Given the description of an element on the screen output the (x, y) to click on. 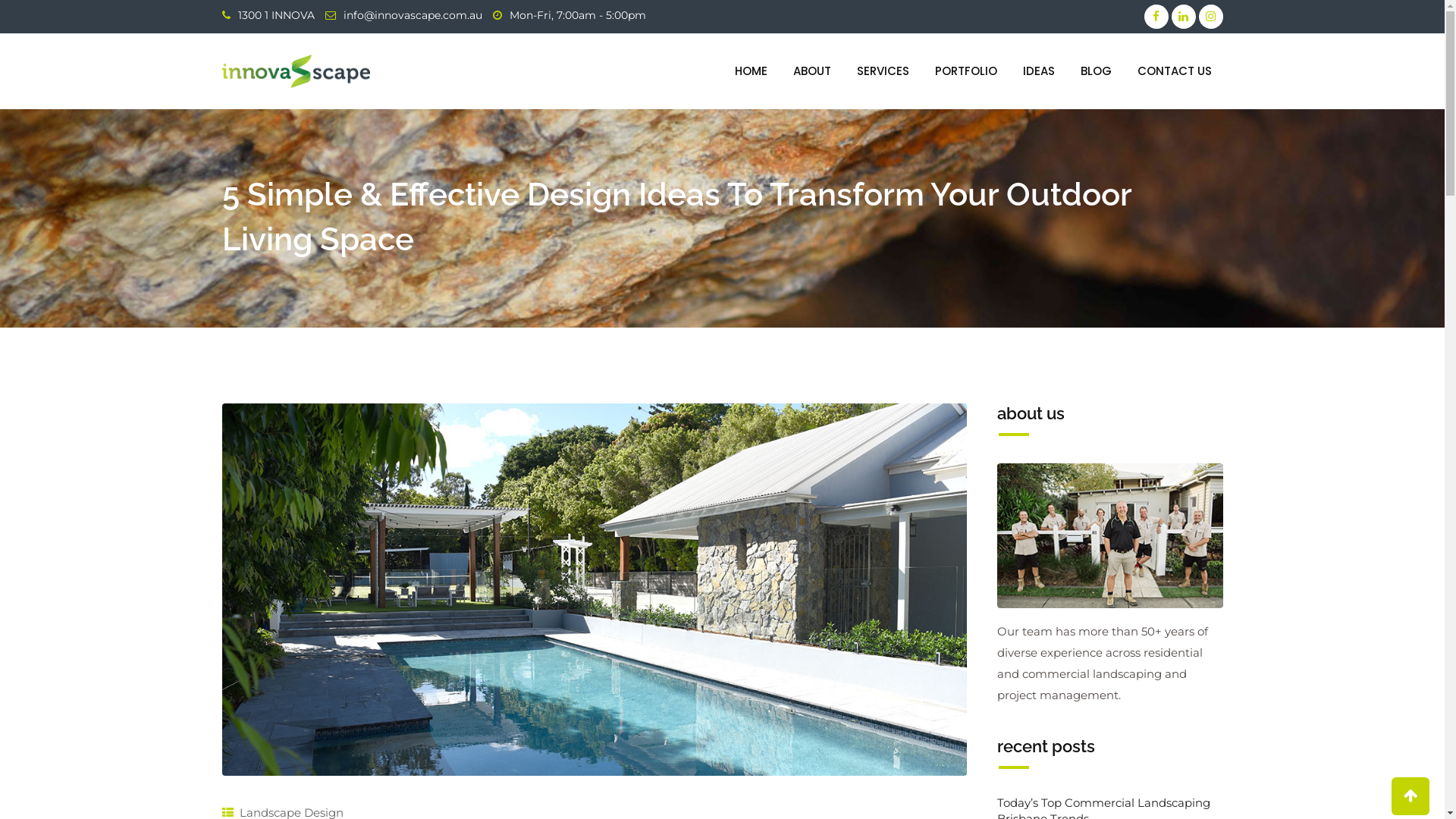
ABOUT Element type: text (811, 71)
1300 1 INNOVA Element type: text (276, 14)
PORTFOLIO Element type: text (965, 71)
info@innovascape.com.au Element type: text (411, 14)
SERVICES Element type: text (881, 71)
IDEAS Element type: text (1038, 71)
CONTACT US Element type: text (1173, 71)
HOME Element type: text (750, 71)
BLOG Element type: text (1096, 71)
